Given the description of an element on the screen output the (x, y) to click on. 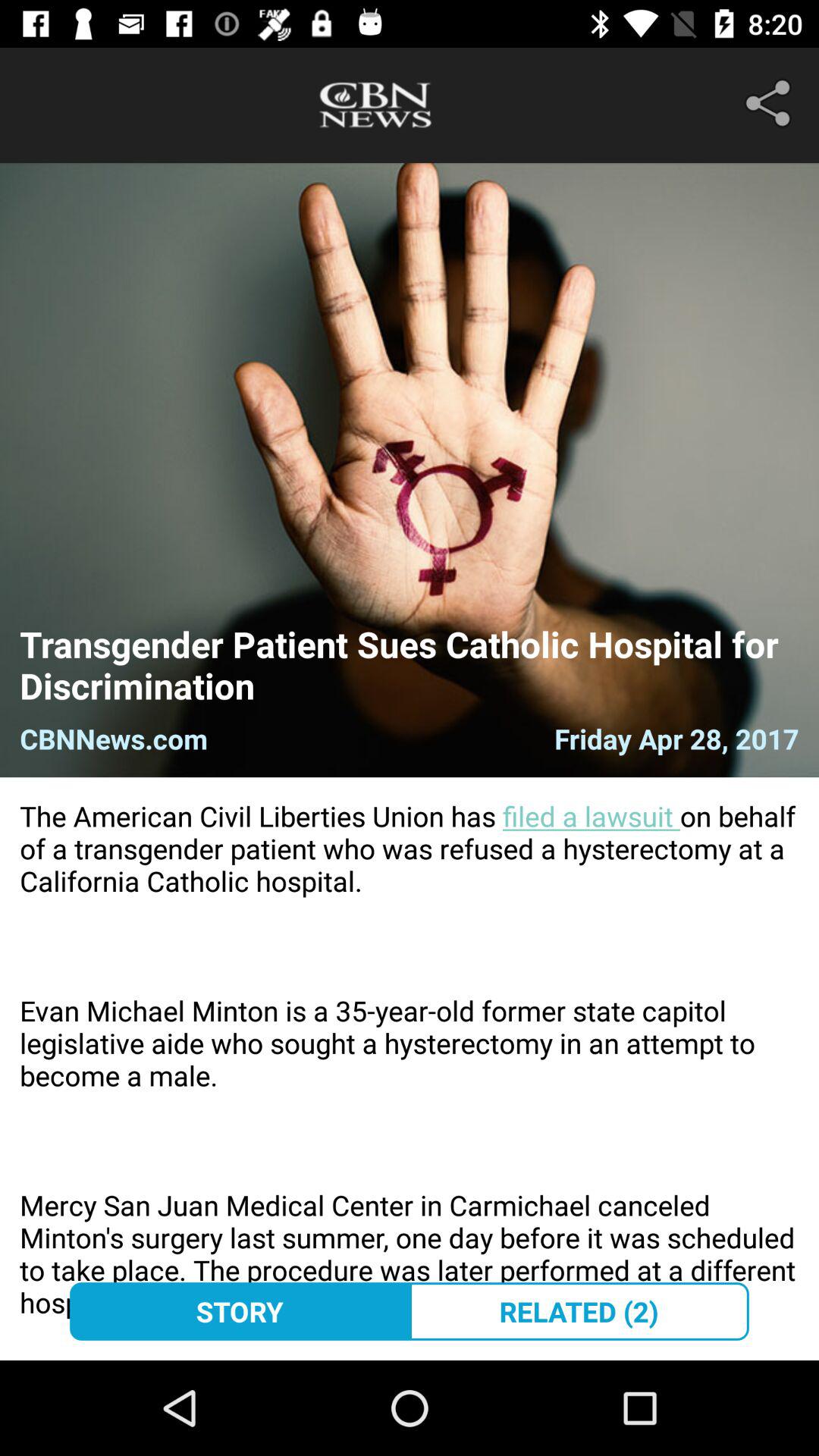
click item to the right of the story icon (579, 1311)
